Given the description of an element on the screen output the (x, y) to click on. 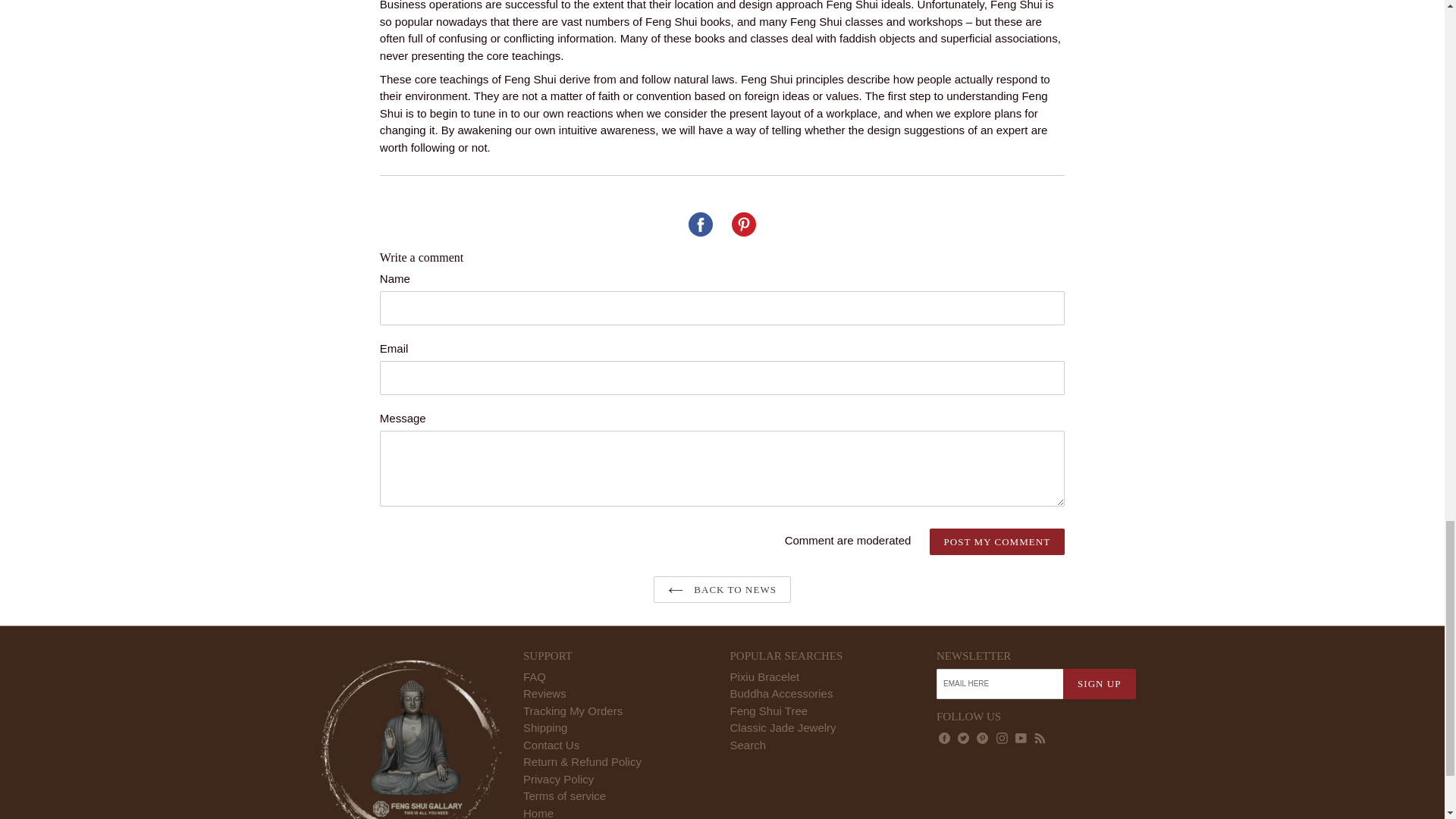
FengshuiGallary on Twitter (963, 737)
Share on Facebook (700, 224)
FengshuiGallary on Pinterest (982, 737)
FengshuiGallary on YouTube (1021, 737)
FengshuiGallary on Instagram (1002, 737)
Post My Comment (997, 542)
Pin on Pinterest (742, 224)
FengshuiGallary on Facebook (944, 737)
